Given the description of an element on the screen output the (x, y) to click on. 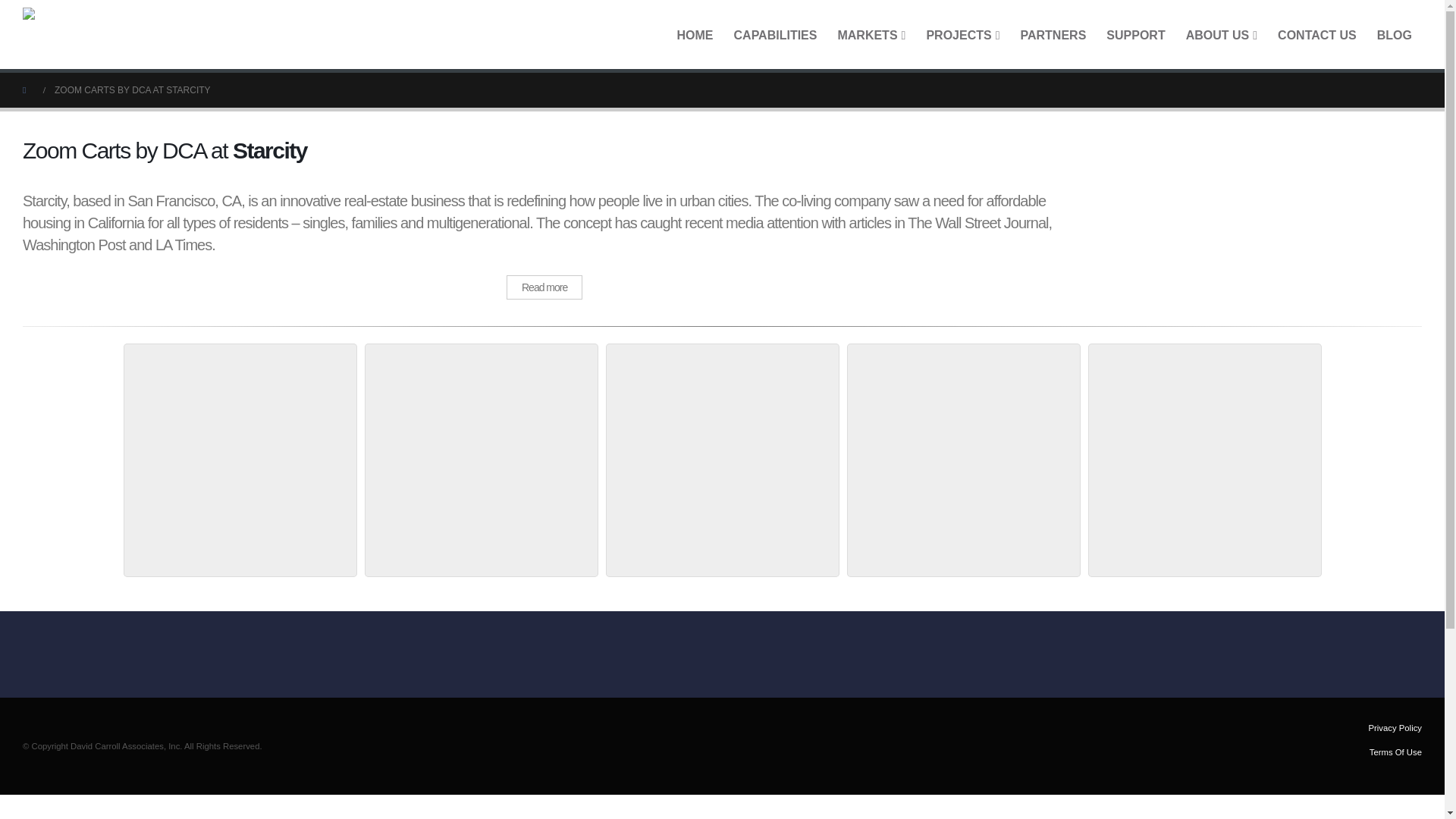
ABOUT US (1221, 34)
CONTACT US (1317, 34)
CAPABILITIES (775, 34)
MARKETS (871, 34)
BLOG (1394, 34)
David Carroll Associates - Your Technology Integrator (117, 34)
SUPPORT (1135, 34)
PARTNERS (1053, 34)
HOME (694, 34)
PROJECTS (962, 34)
